Given the description of an element on the screen output the (x, y) to click on. 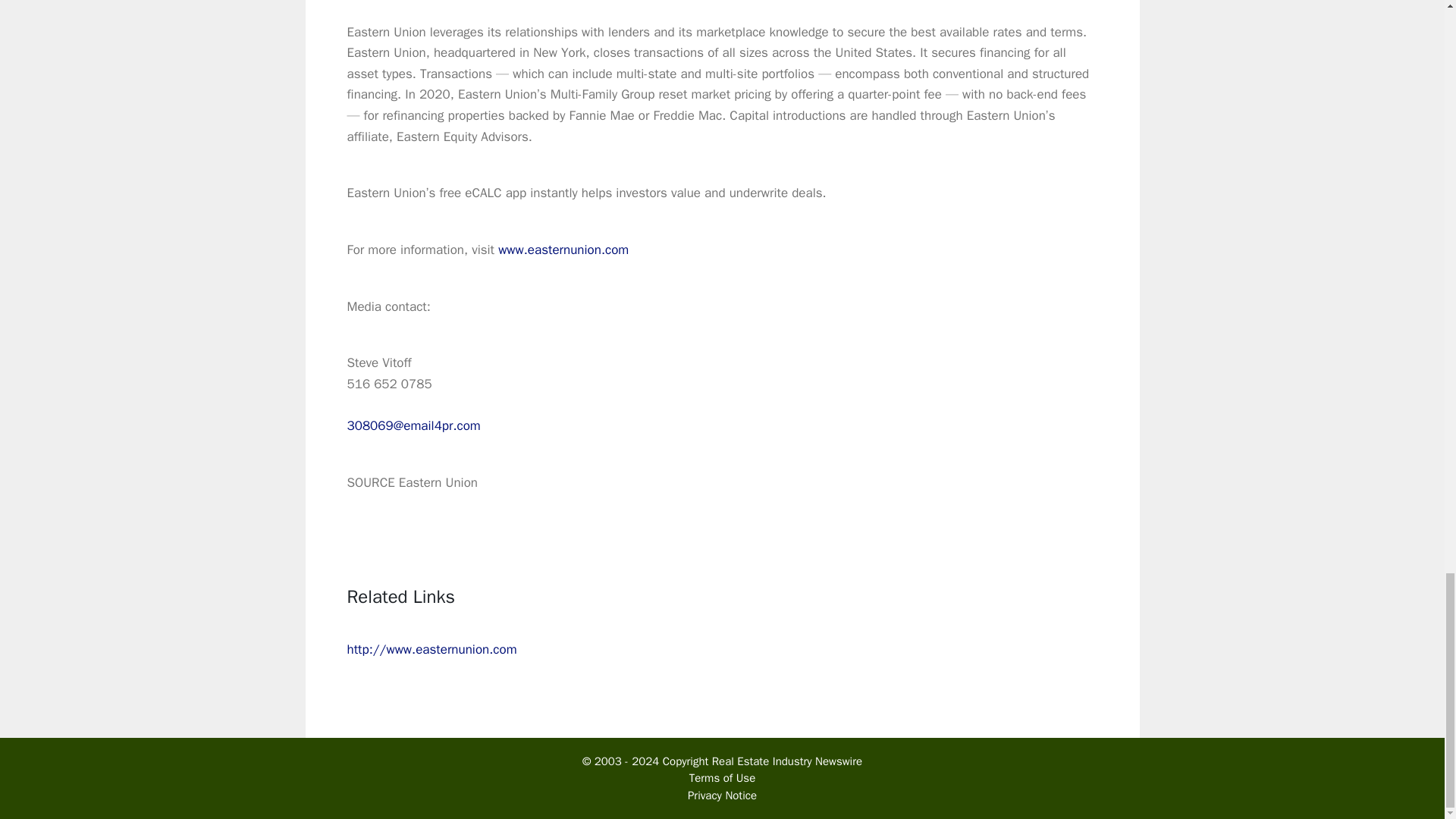
Terms of Use (721, 777)
www.easternunion.com (562, 249)
Privacy Notice (722, 795)
